Given the description of an element on the screen output the (x, y) to click on. 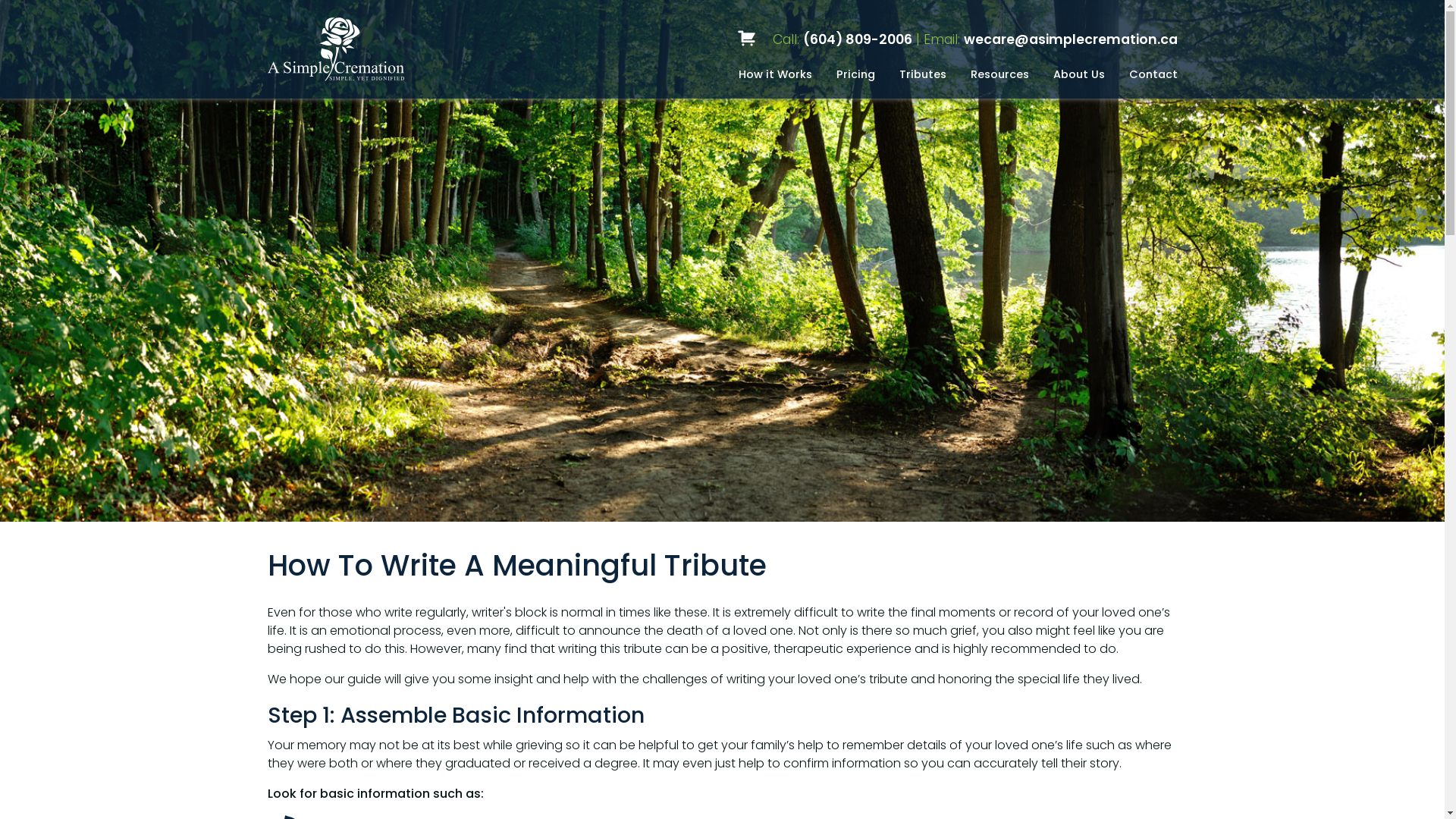
Tributes Element type: text (922, 73)
Contact Element type: text (1152, 73)
How it Works Element type: text (775, 73)
About Us Element type: text (1078, 73)
Pricing Element type: text (854, 73)
(604) 809-2006 Element type: text (856, 39)
Resources Element type: text (999, 73)
A Simple Cremation - Home Element type: hover (390, 49)
wecare@asimplecremation.ca Element type: text (1069, 39)
